Given the description of an element on the screen output the (x, y) to click on. 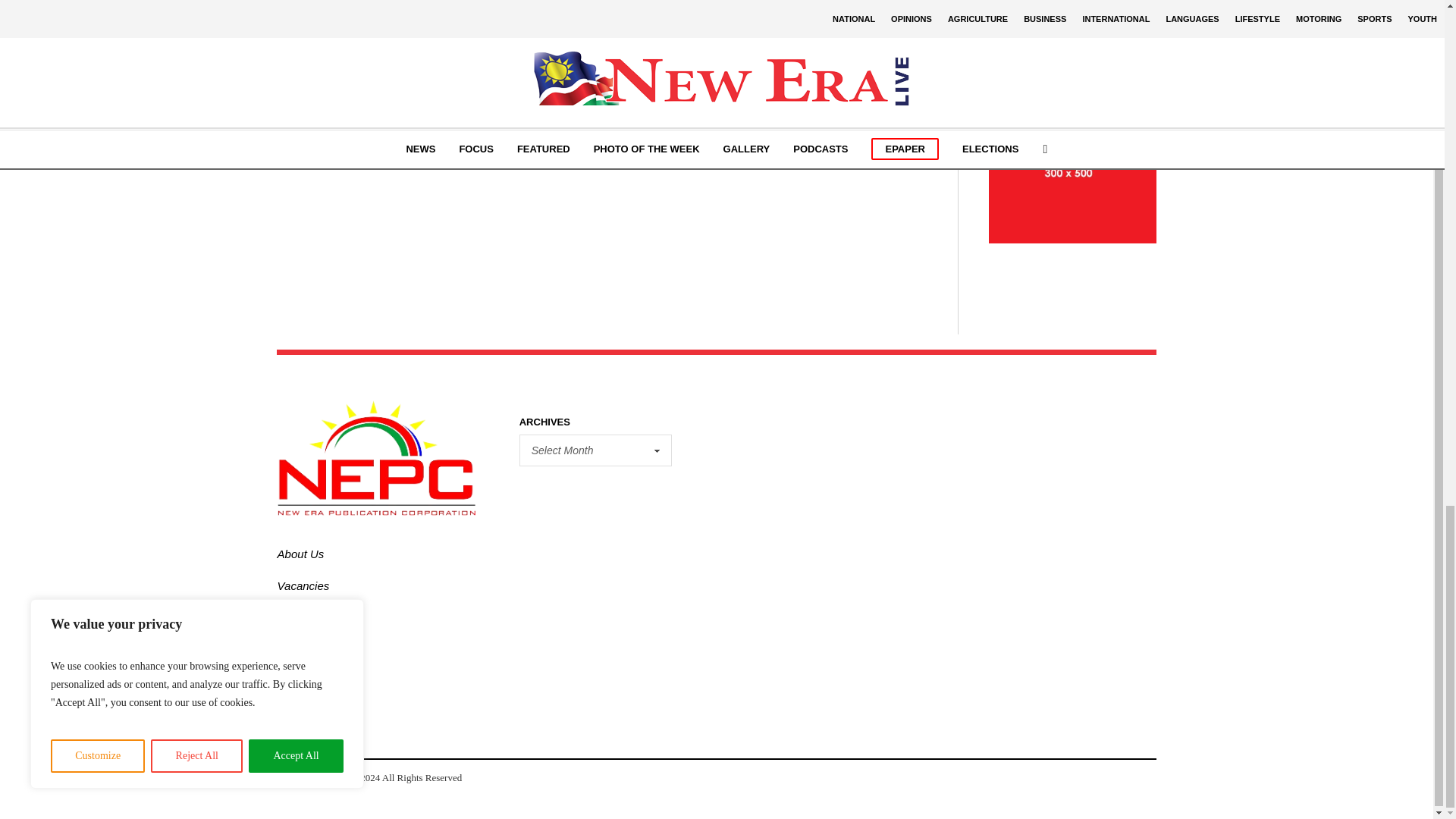
Gallery (296, 649)
Procurement (310, 617)
Vacancies (304, 585)
